Given the description of an element on the screen output the (x, y) to click on. 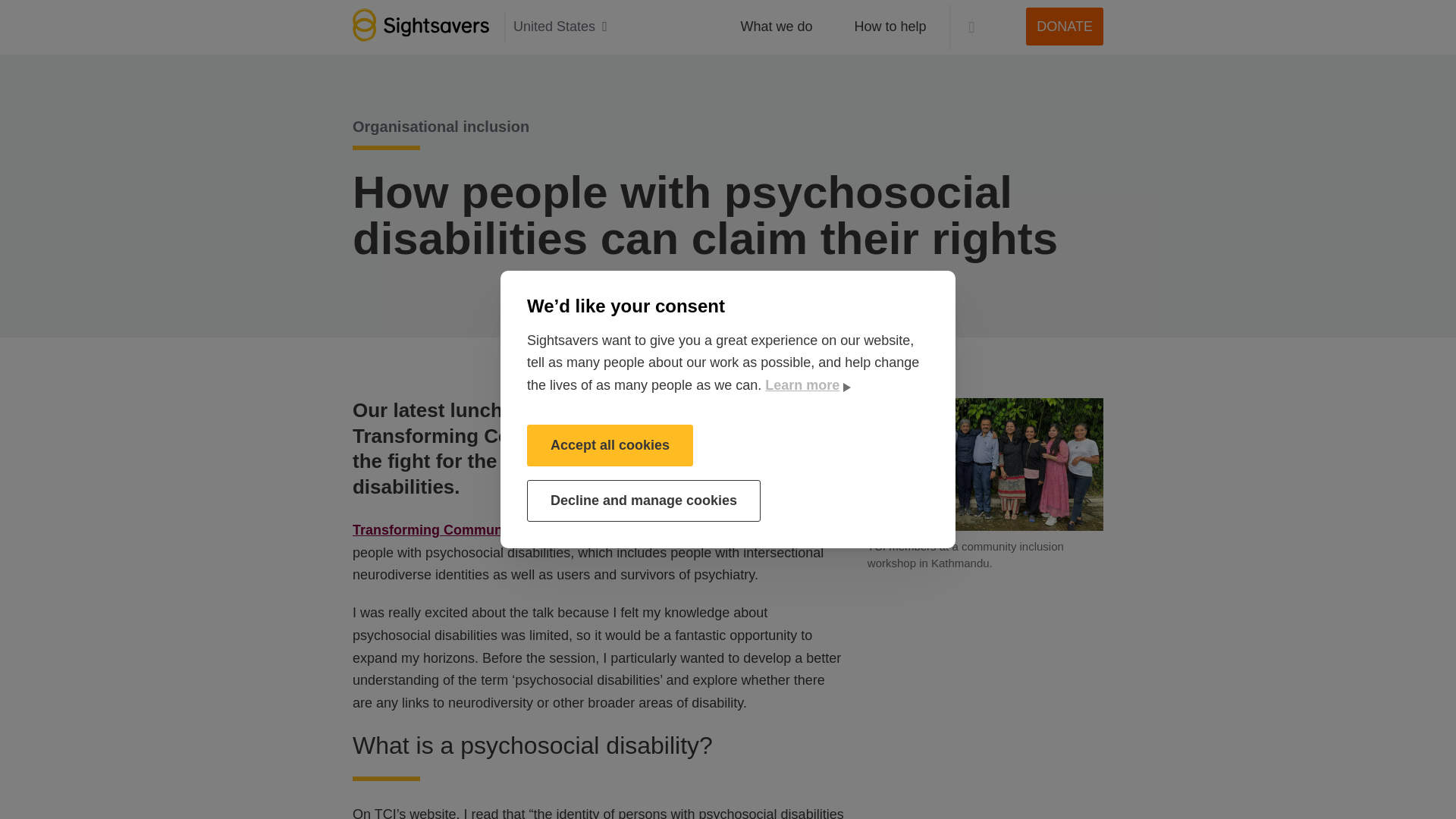
United States (562, 26)
